Given the description of an element on the screen output the (x, y) to click on. 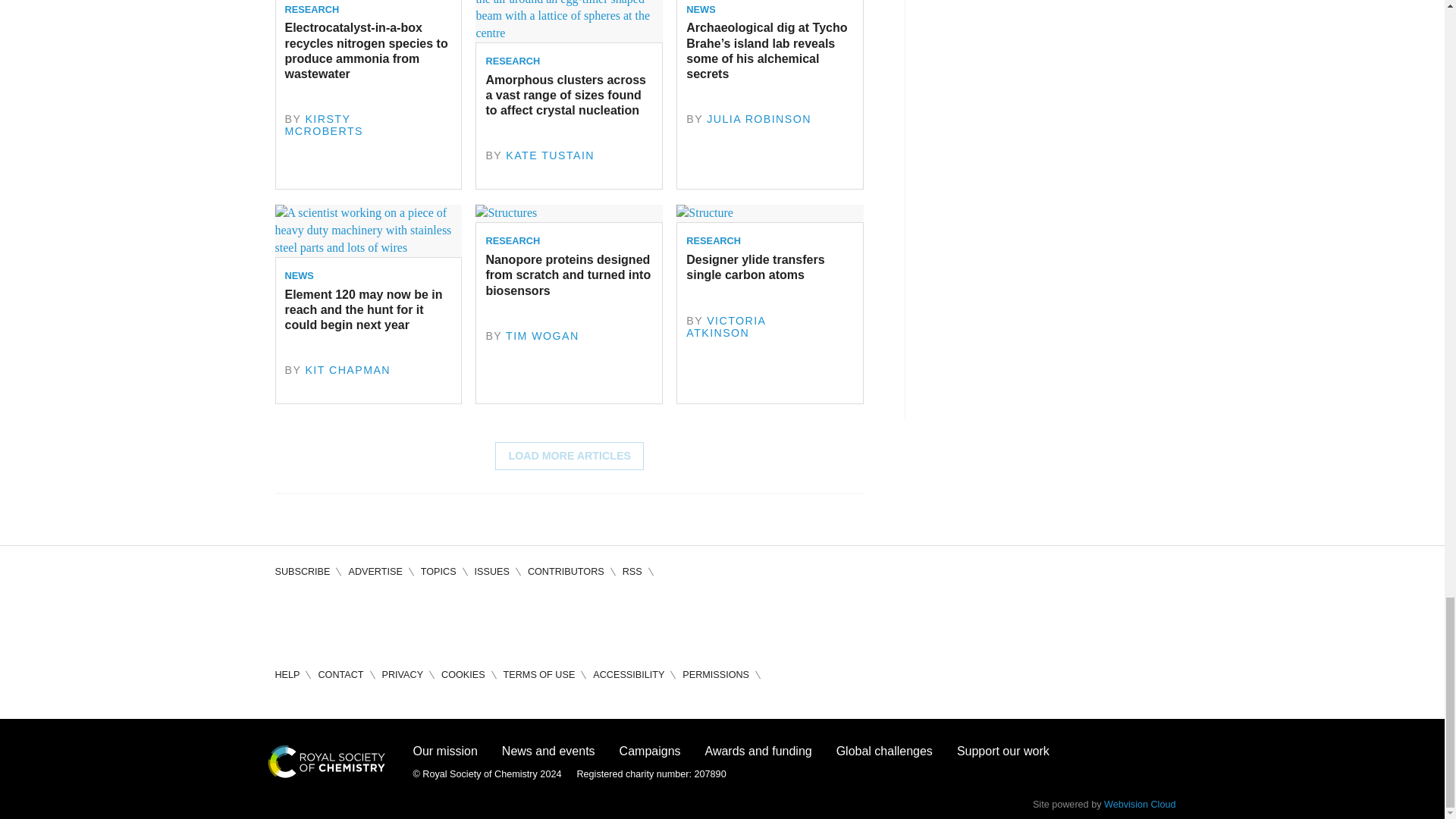
Watch on Vimeo (416, 619)
Follow on Facebook (287, 619)
Follow on Twitter (330, 619)
Connect on Linked in (373, 619)
